Given the description of an element on the screen output the (x, y) to click on. 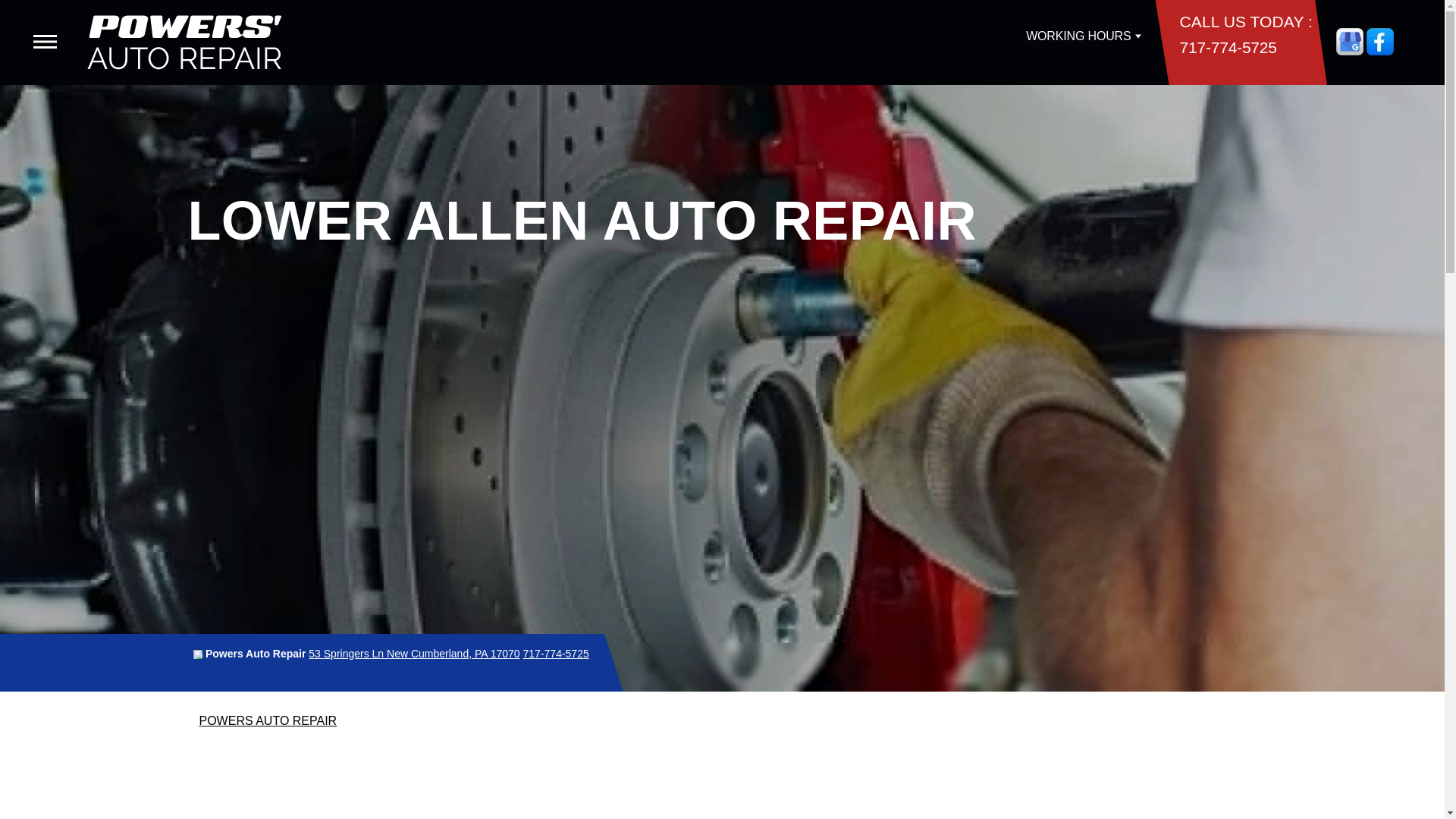
53 Springers Ln New Cumberland, PA 17070 (413, 653)
open-navigation-button (44, 41)
POWERS AUTO REPAIR (267, 720)
717-774-5725 (555, 653)
717-774-5725 (1227, 47)
